Given the description of an element on the screen output the (x, y) to click on. 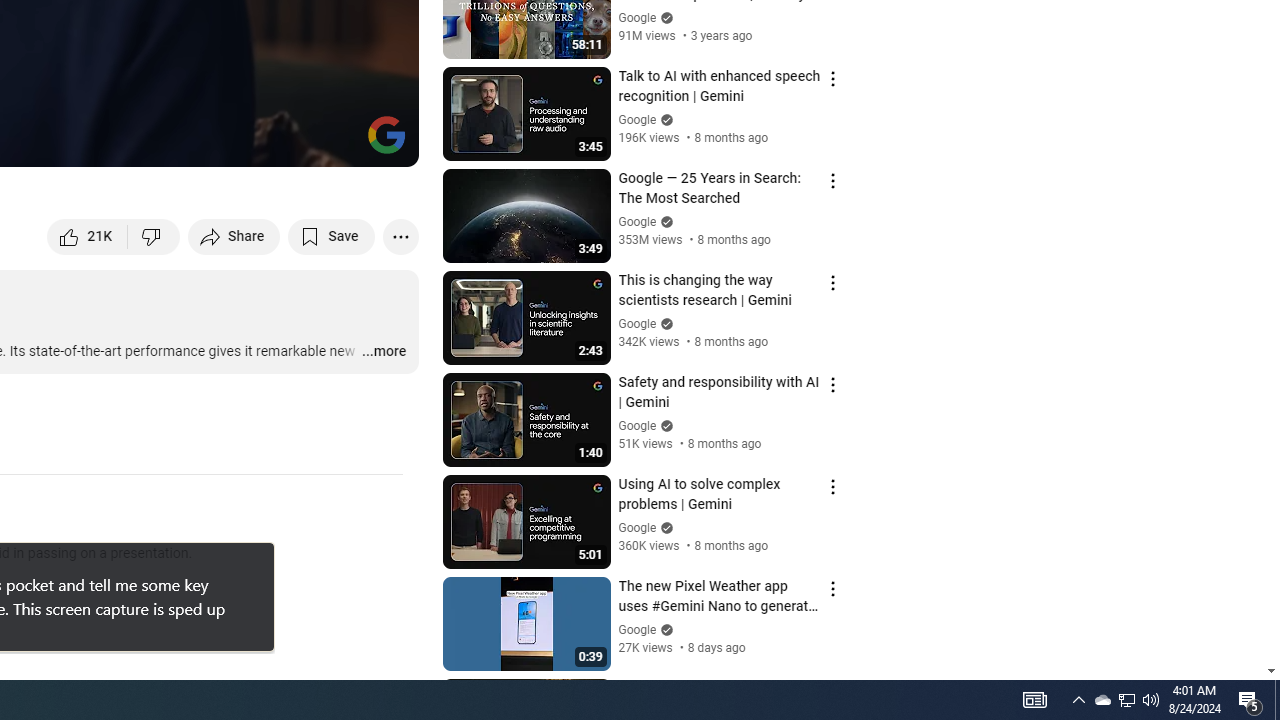
Save to playlist (331, 236)
Theater mode (t) (333, 142)
...more (382, 352)
Dislike this video (154, 236)
Autoplay is on (141, 142)
Channel watermark (386, 134)
Verified (664, 629)
